Given the description of an element on the screen output the (x, y) to click on. 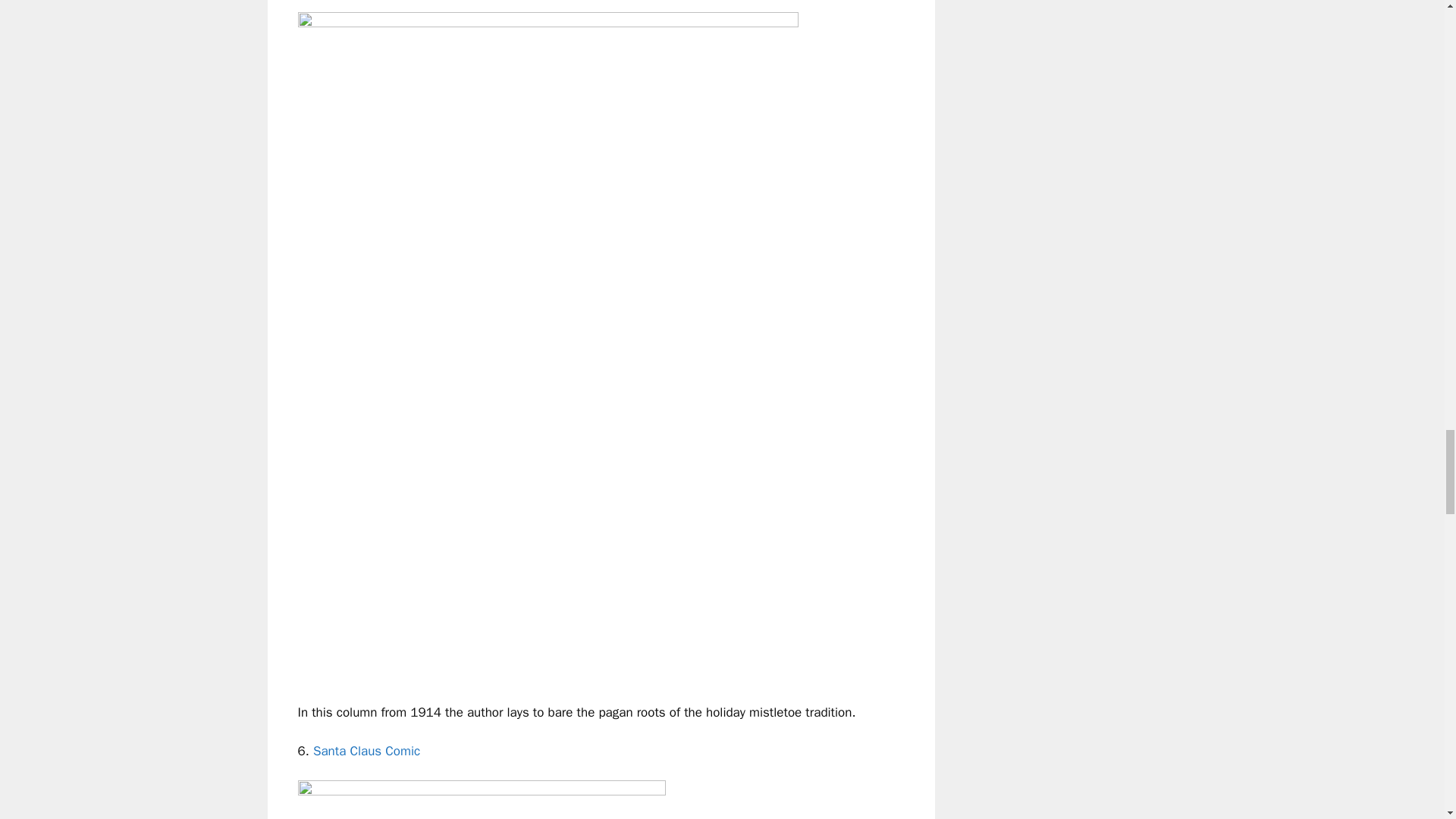
Santa Claus Comic (366, 750)
